Given the description of an element on the screen output the (x, y) to click on. 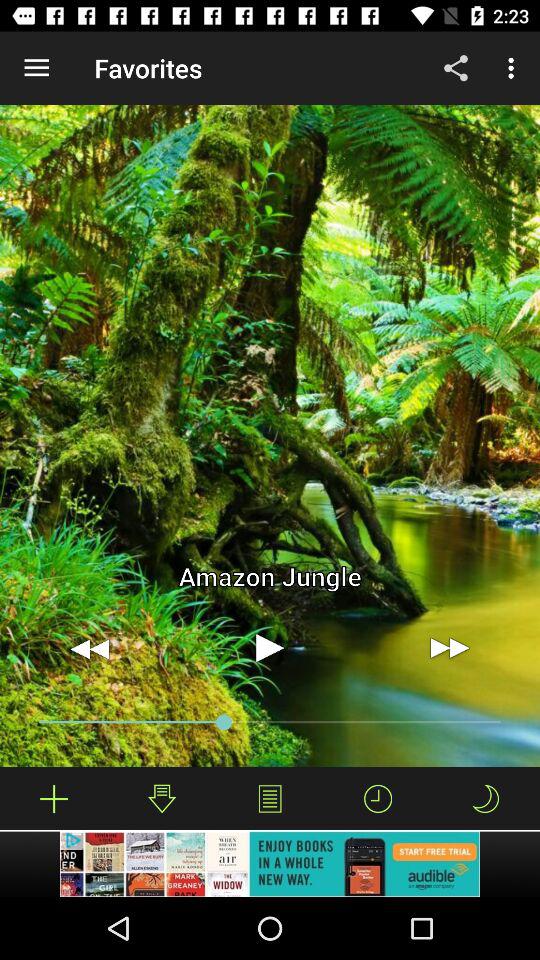
select the icon to the left of the favorites icon (36, 68)
